Given the description of an element on the screen output the (x, y) to click on. 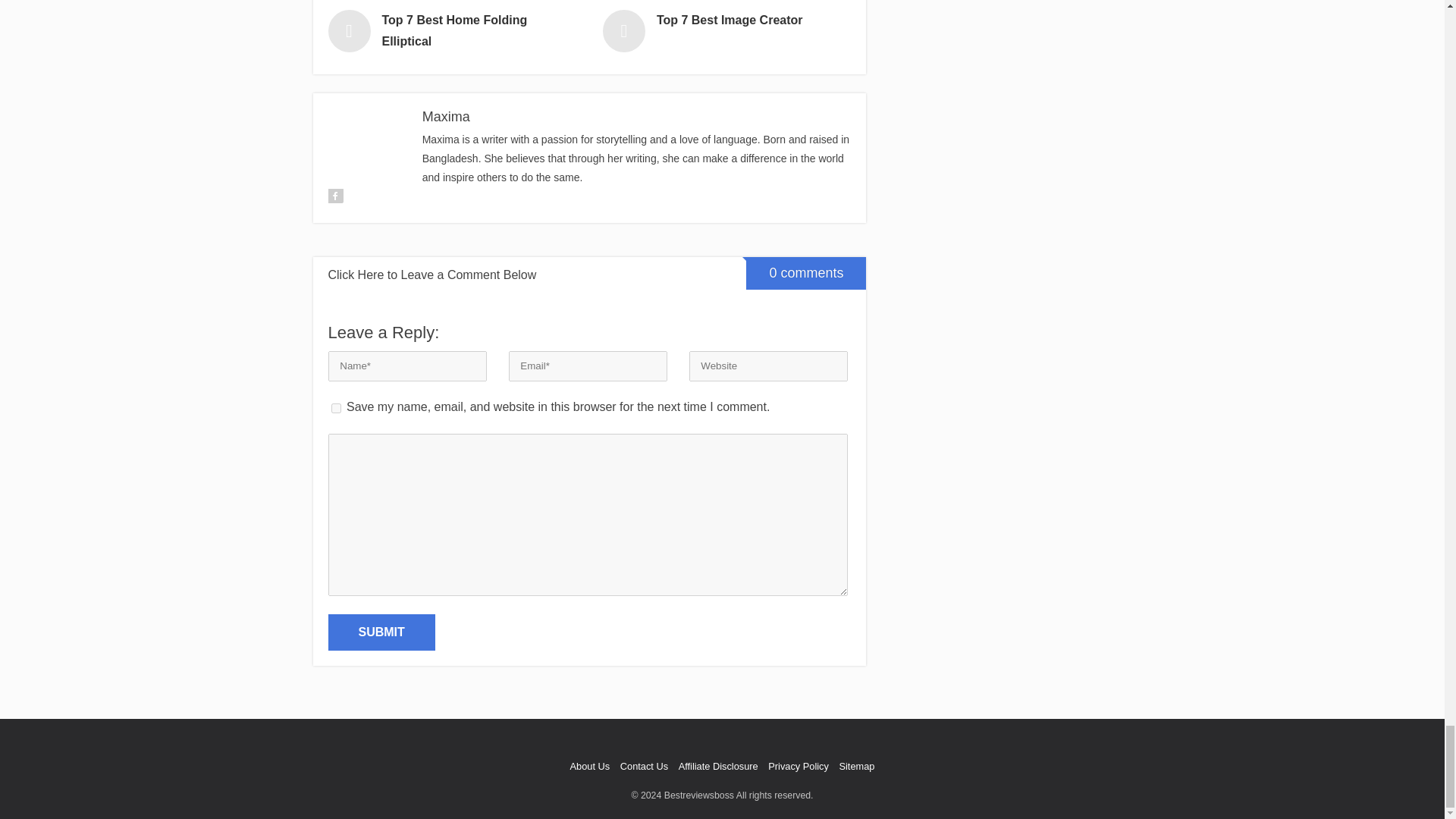
yes (335, 408)
SUBMIT (380, 632)
